Given the description of an element on the screen output the (x, y) to click on. 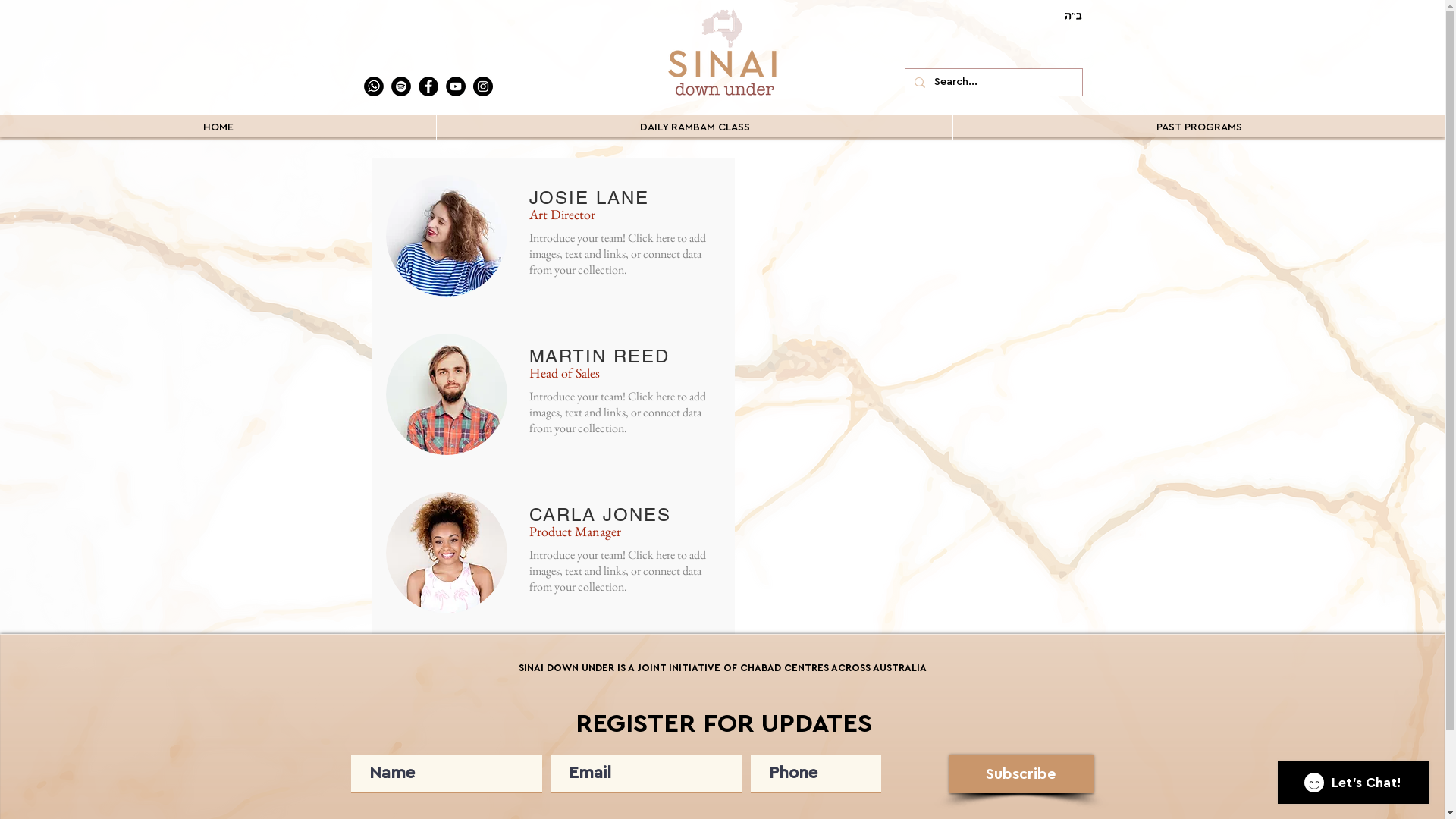
HOME Element type: text (218, 127)
PAST PROGRAMS Element type: text (1198, 127)
Subscribe Element type: text (1021, 773)
DAILY RAMBAM CLASS Element type: text (694, 127)
